Given the description of an element on the screen output the (x, y) to click on. 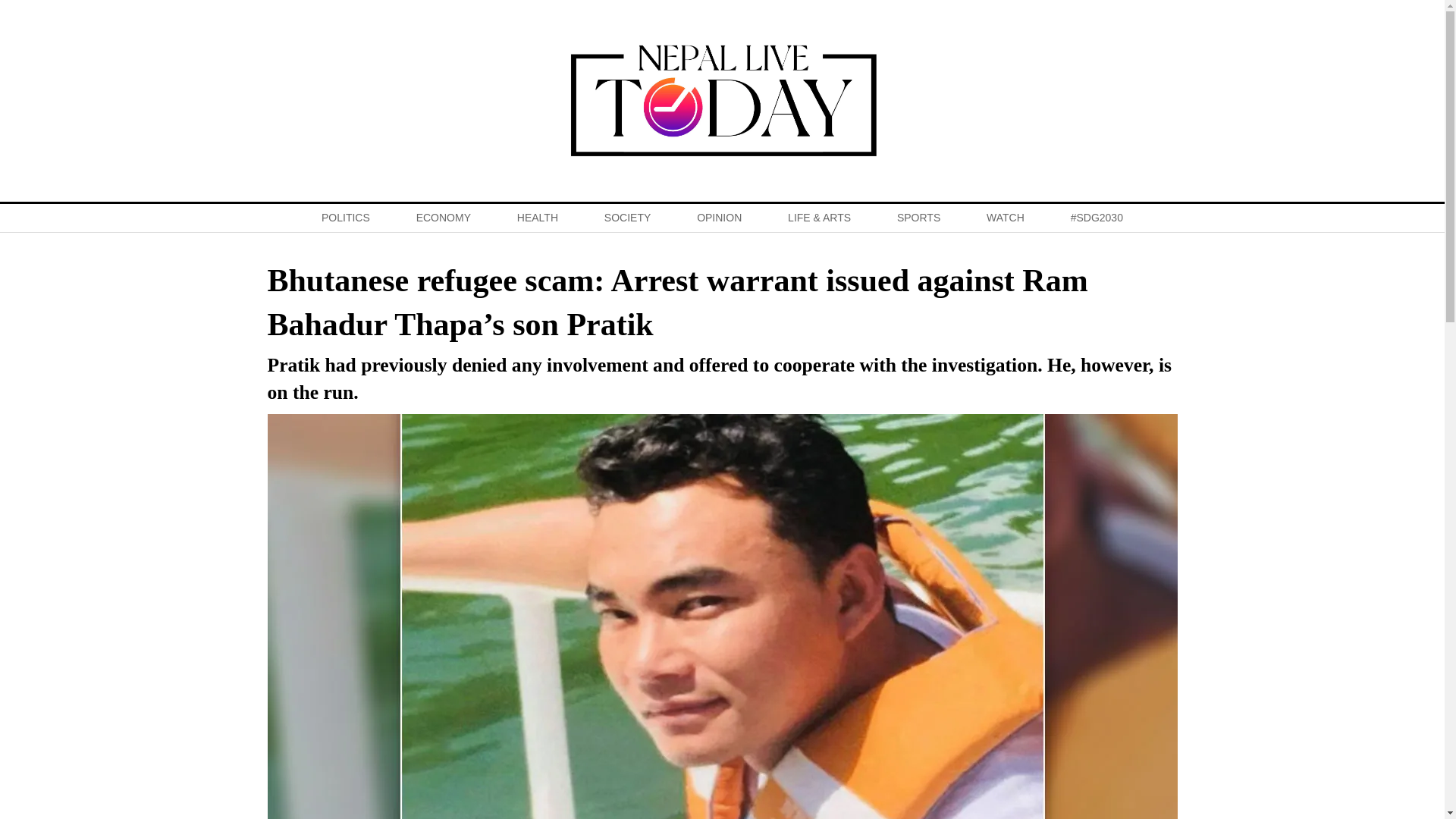
SOCIETY (627, 217)
WATCH (1005, 217)
ECONOMY (443, 217)
HEALTH (537, 217)
POLITICS (345, 217)
OPINION (718, 217)
SPORTS (918, 217)
